Given the description of an element on the screen output the (x, y) to click on. 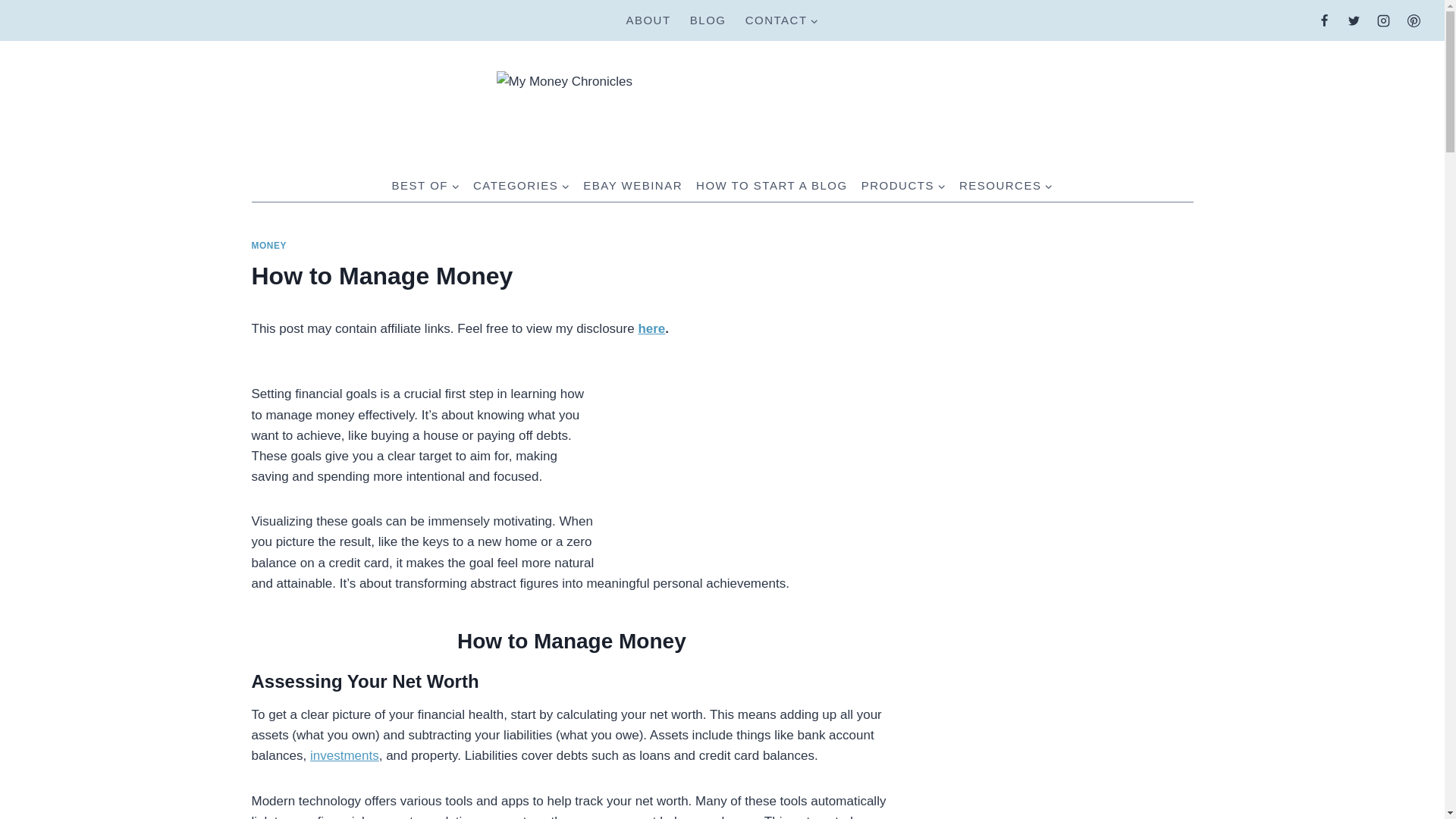
CONTACT (781, 20)
PRODUCTS (903, 185)
BLOG (707, 20)
MONEY (268, 245)
BEST OF (425, 185)
investments (344, 755)
here (651, 328)
RESOURCES (1005, 185)
ABOUT (647, 20)
CATEGORIES (520, 185)
EBAY WEBINAR (632, 185)
HOW TO START A BLOG (771, 185)
